Given the description of an element on the screen output the (x, y) to click on. 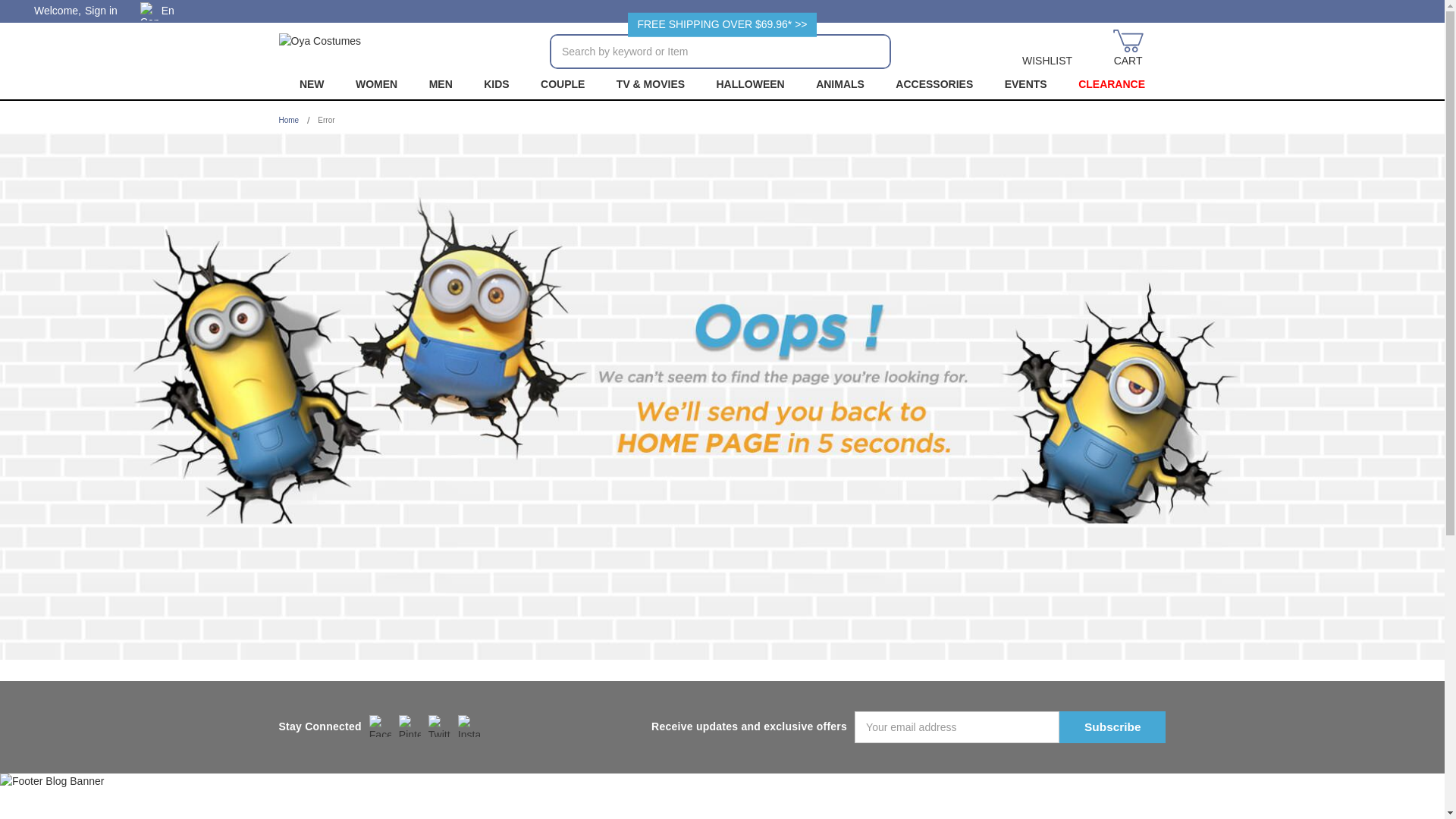
WOMEN (376, 83)
Wishlist (1047, 48)
Subscribe (1112, 726)
NEW (311, 83)
En (162, 11)
WISHLIST (1047, 48)
Oya Costumes (320, 48)
Sign in (100, 10)
CART (1128, 48)
